Given the description of an element on the screen output the (x, y) to click on. 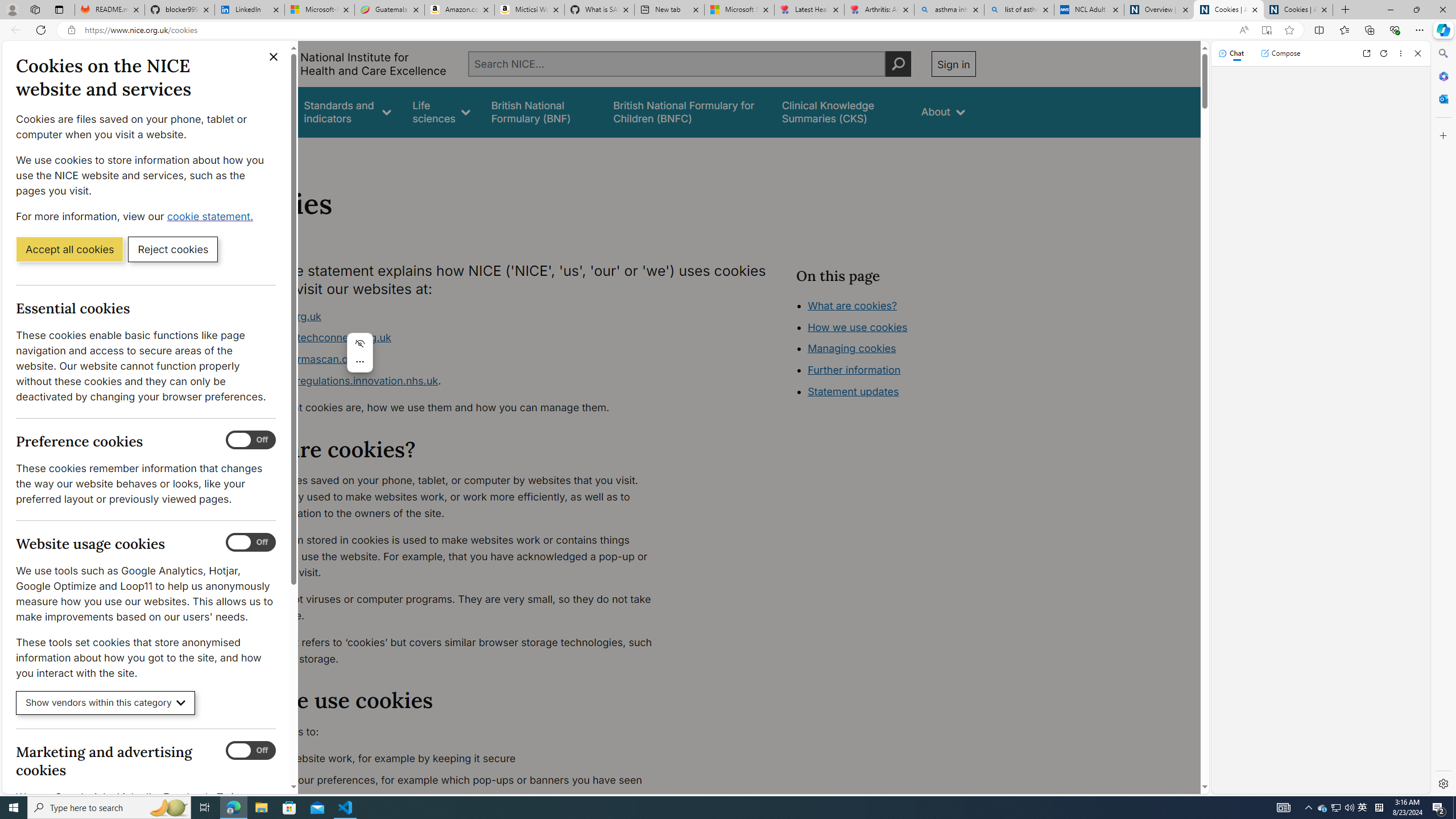
www.healthtechconnect.org.uk (314, 337)
Guidance (260, 111)
asthma inhaler - Search (949, 9)
make our website work, for example by keeping it secure (452, 759)
Accept all cookies (69, 248)
